Given the description of an element on the screen output the (x, y) to click on. 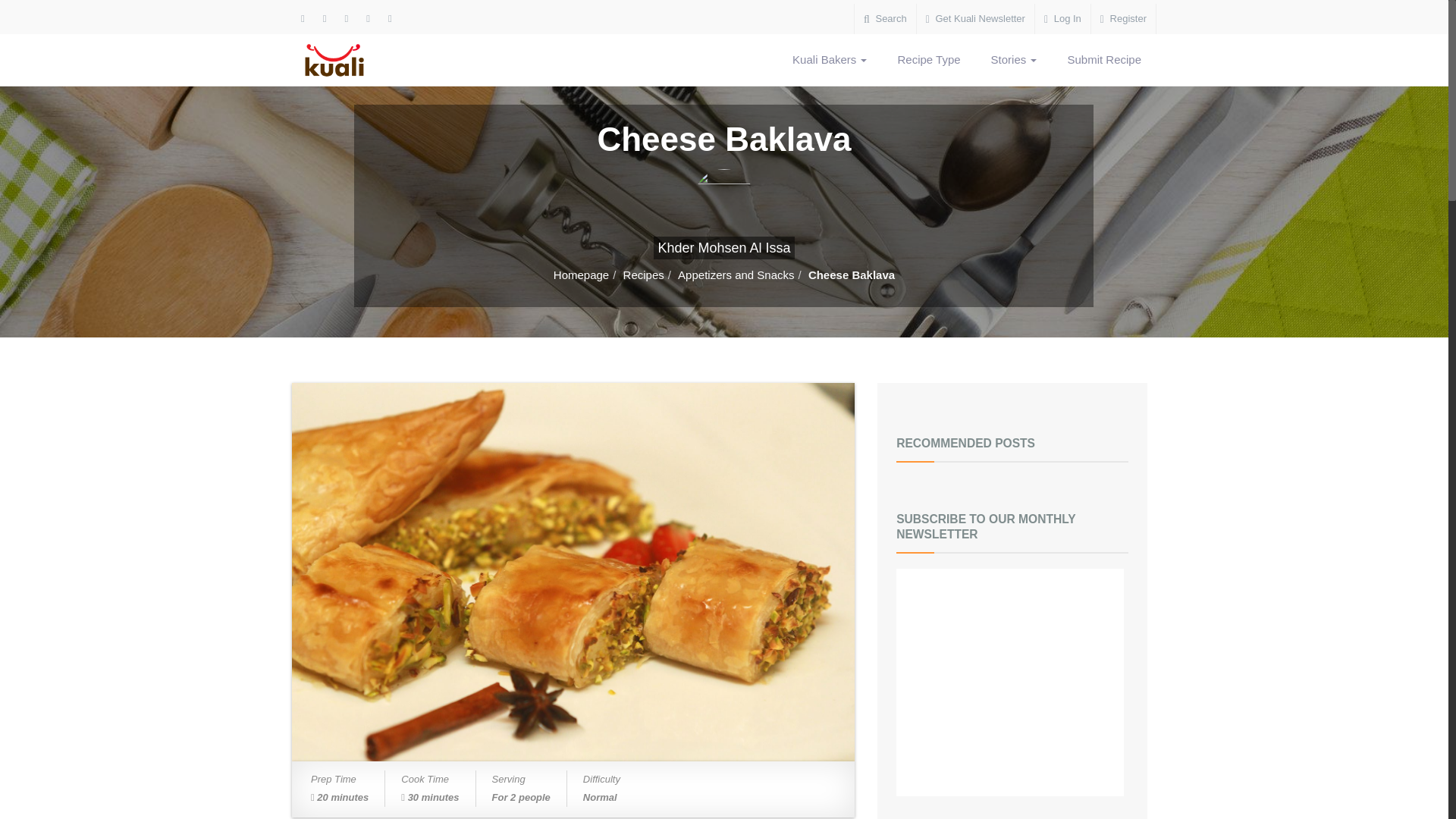
Stories (1013, 59)
Malaysian Food, Recipes, Restaurants (344, 59)
Search (884, 19)
Get Kuali Newsletter (975, 19)
Kuali Bakers (829, 59)
Log In (1062, 19)
Register (1123, 19)
Homepage (580, 274)
Recipes (643, 274)
Recipes (643, 274)
